Given the description of an element on the screen output the (x, y) to click on. 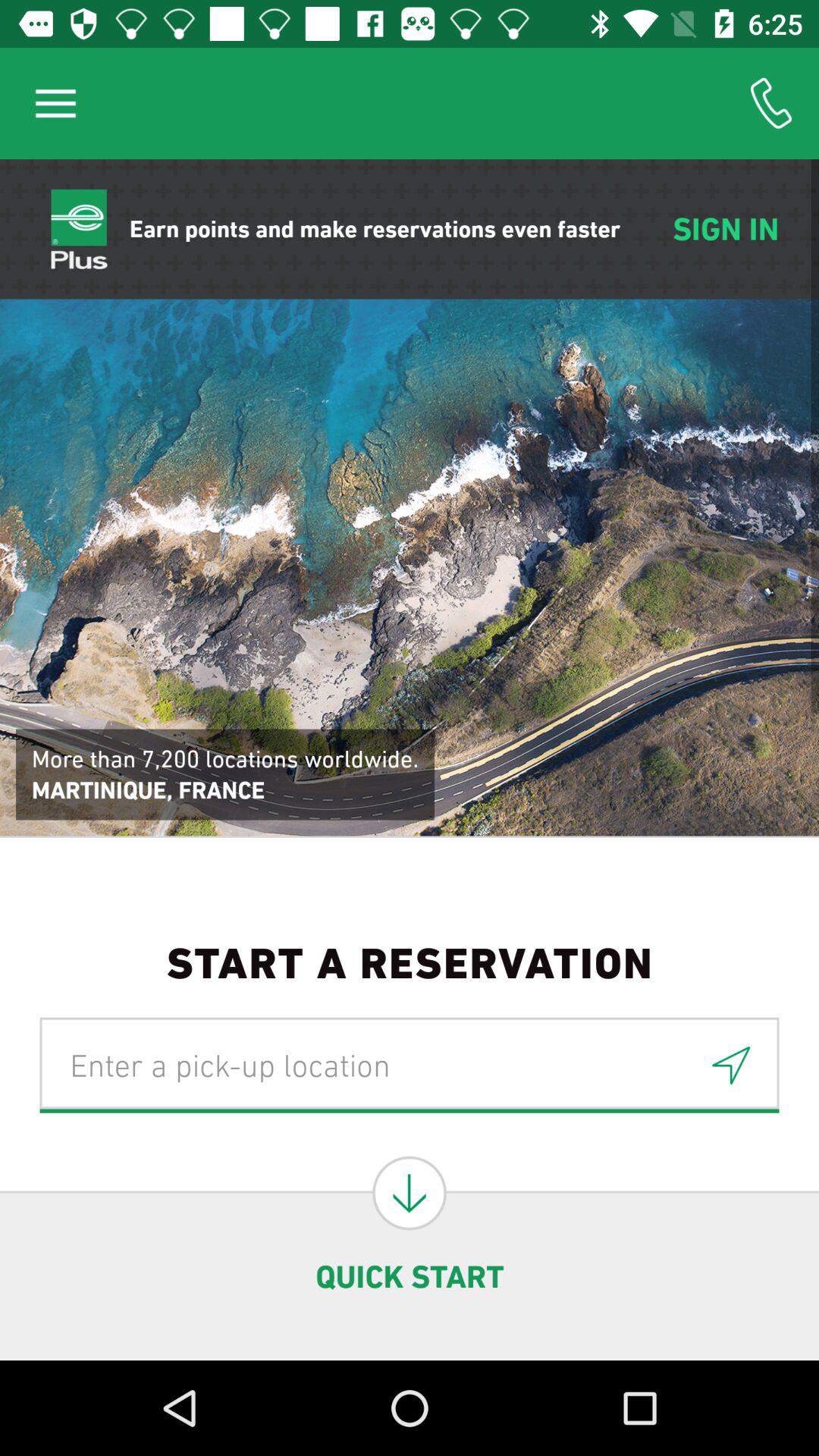
current location (731, 1065)
